Given the description of an element on the screen output the (x, y) to click on. 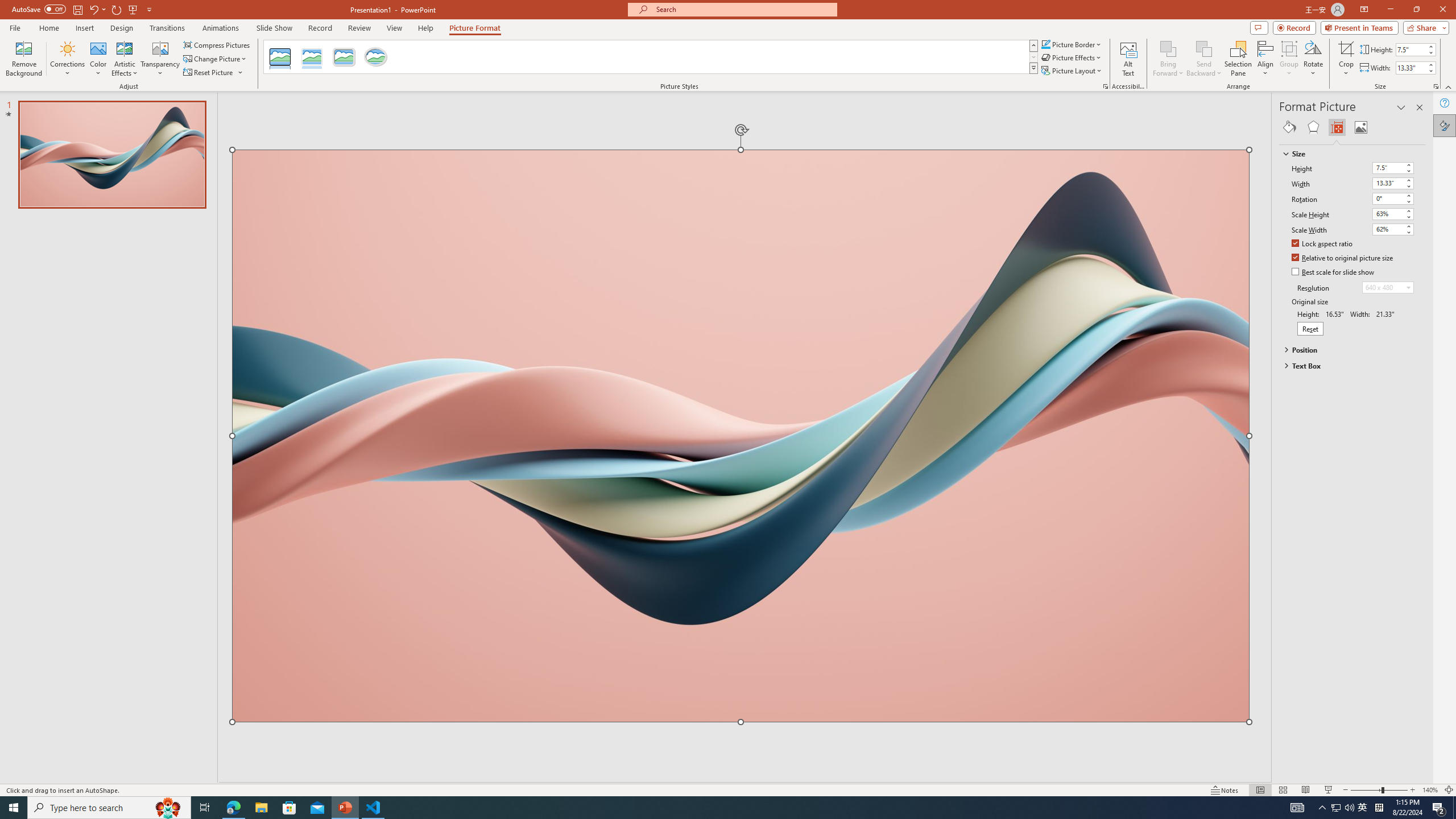
Compress Pictures... (217, 44)
Size and Position... (1435, 85)
Zoom 140% (1430, 790)
Picture Format (475, 28)
Fill & Line (1288, 126)
Size (1347, 153)
Transparency (160, 58)
Scale Width (1388, 229)
